Given the description of an element on the screen output the (x, y) to click on. 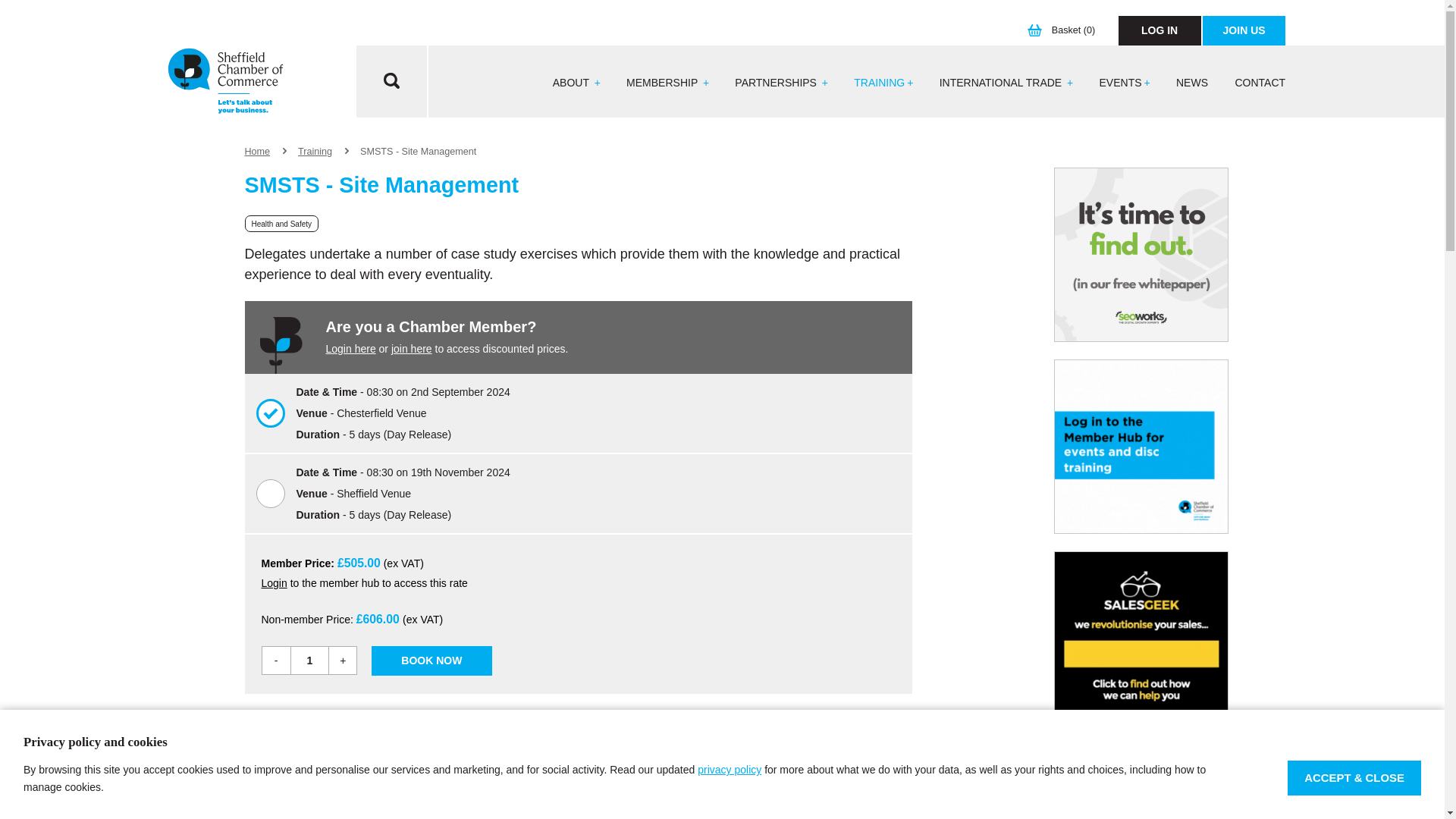
Sheffield Chamber (225, 81)
View Your Basket (1064, 30)
Join Us (1243, 30)
LOG IN (1159, 30)
JOIN US (1243, 30)
1 (309, 660)
Log In (1159, 30)
ABOUT (576, 83)
privacy policy (729, 769)
About (576, 83)
privacy policy (729, 769)
